Given the description of an element on the screen output the (x, y) to click on. 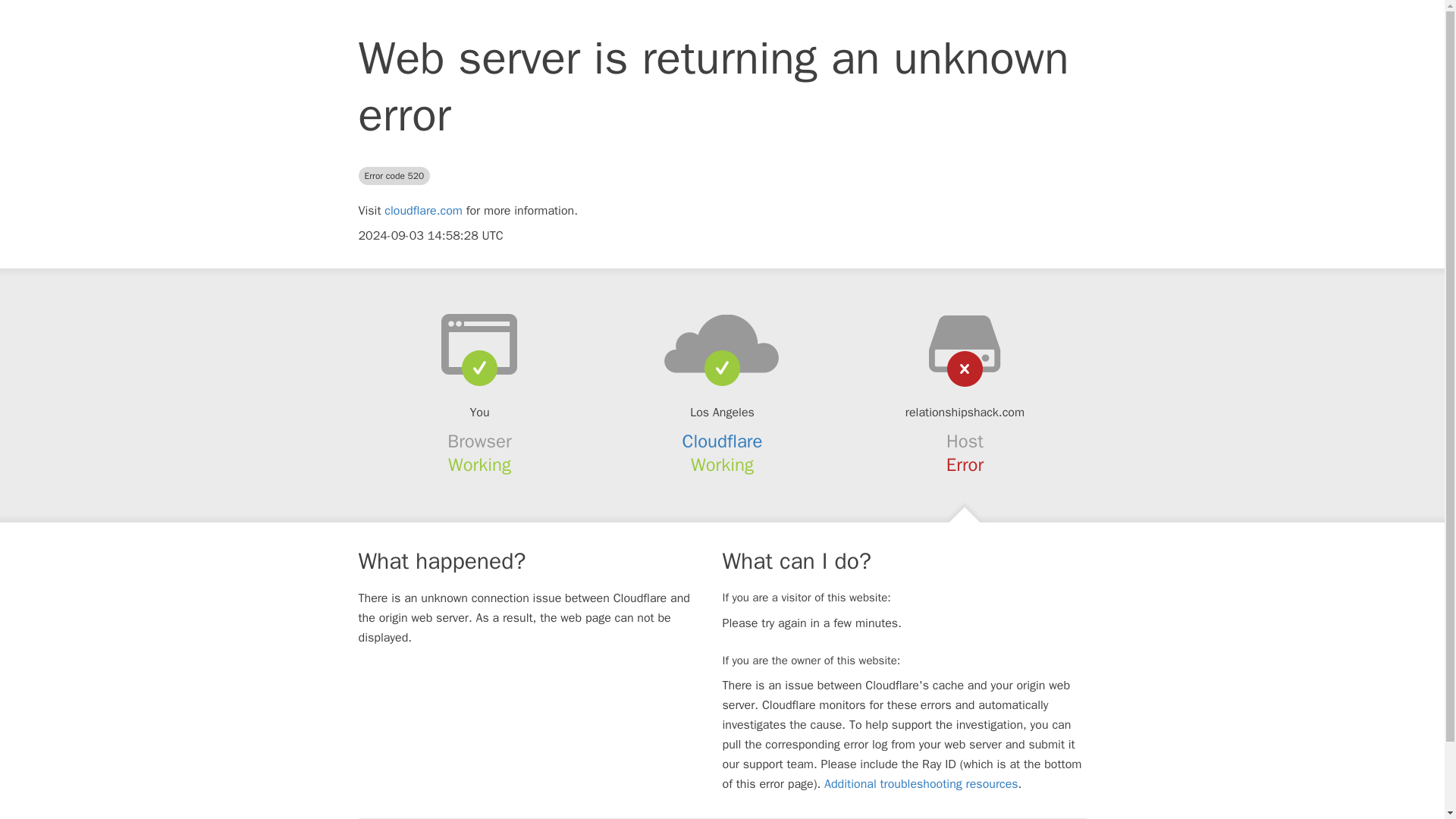
Cloudflare (722, 440)
Additional troubleshooting resources (920, 783)
cloudflare.com (423, 210)
